Given the description of an element on the screen output the (x, y) to click on. 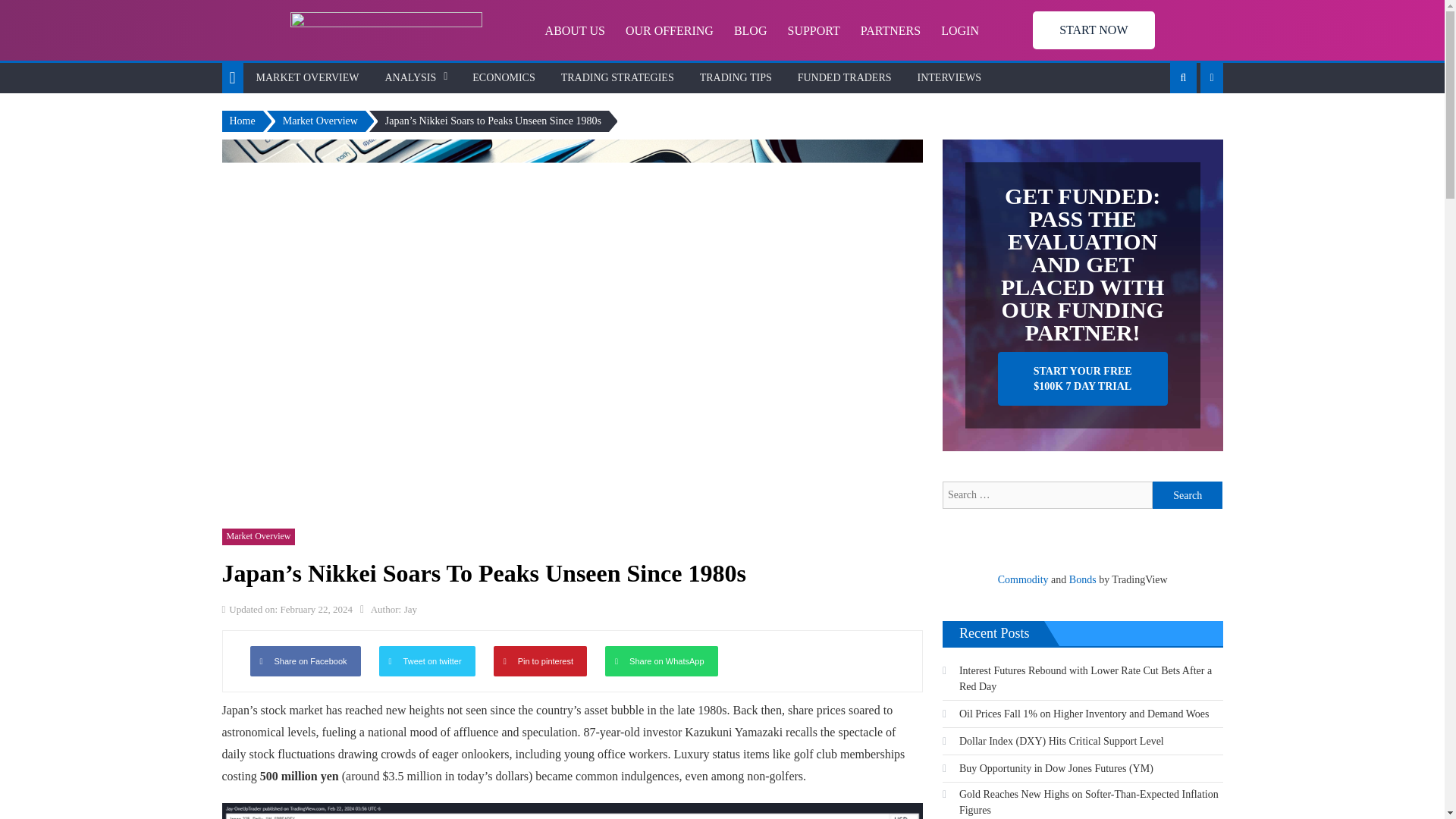
ECONOMICS (503, 78)
START NOW (1093, 30)
TRADING TIPS (735, 78)
LOGIN (951, 30)
FUNDED TRADERS (844, 78)
Search (1188, 494)
PARTNERS (882, 30)
ABOUT US (566, 30)
TRADING STRATEGIES (617, 78)
MARKET OVERVIEW (307, 78)
